Given the description of an element on the screen output the (x, y) to click on. 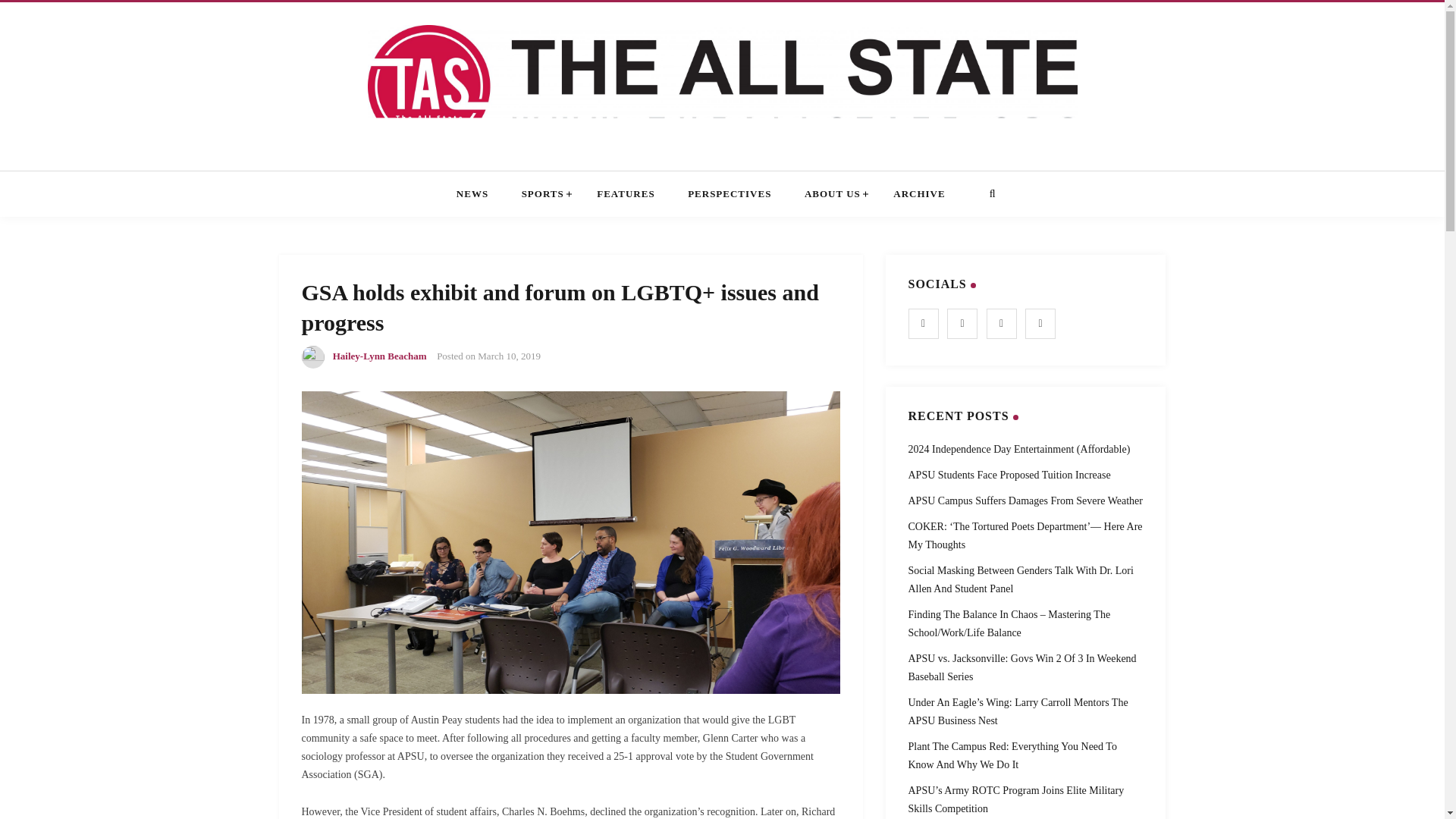
SPORTS (542, 194)
FEATURES (624, 194)
March 10, 2019 (508, 355)
Features (624, 194)
ARCHIVE (918, 194)
Archive (918, 194)
About Us (832, 194)
PERSPECTIVES (729, 194)
Perspectives (729, 194)
ABOUT US (832, 194)
